Given the description of an element on the screen output the (x, y) to click on. 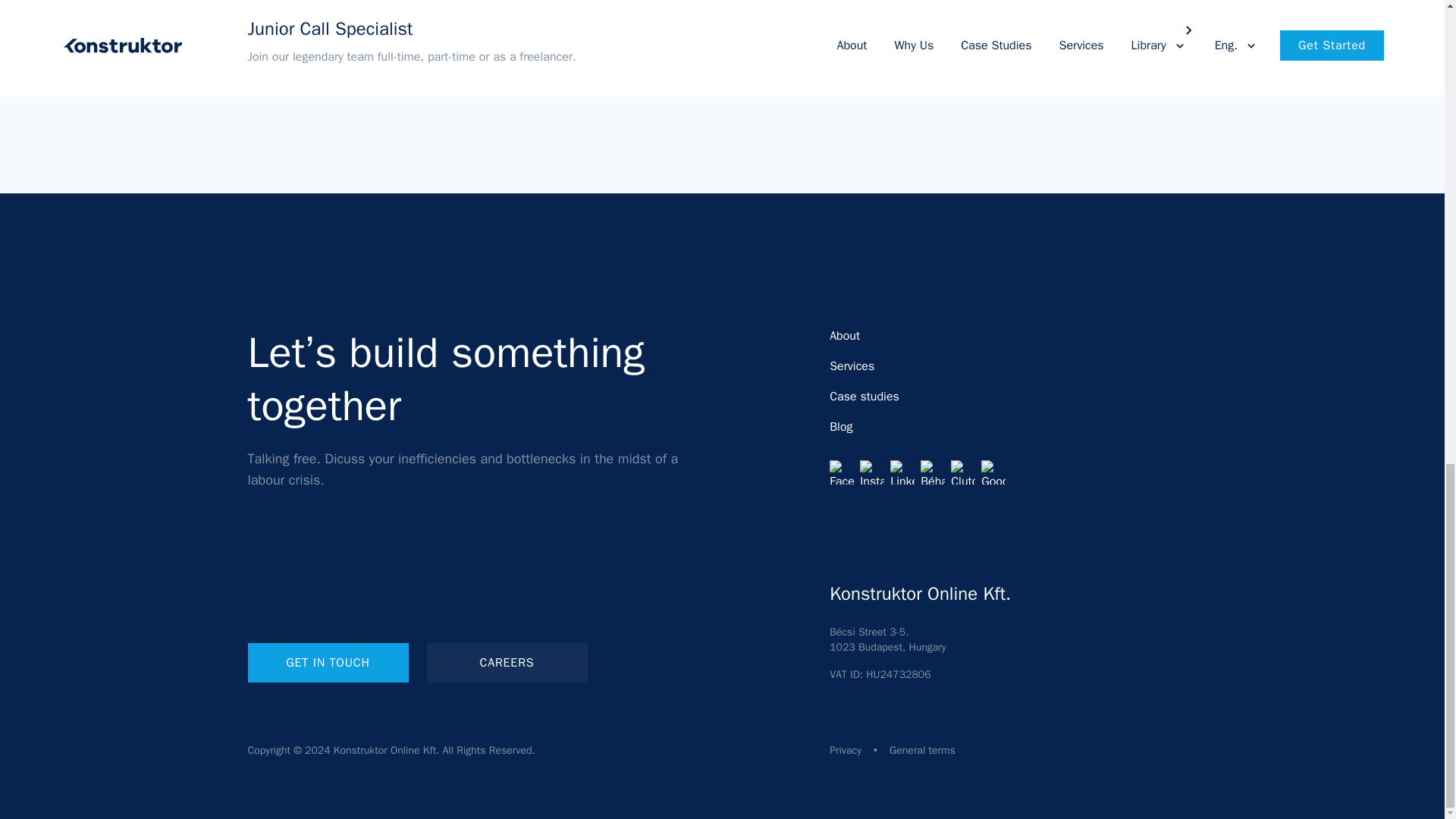
Konstruktor Online on GoodFirms (993, 472)
Case studies (864, 396)
KonstruktorOnline Facebook (841, 472)
Services (852, 365)
Blog (840, 426)
Privacy (845, 749)
General terms (922, 749)
About (844, 335)
Konstruktor Online on Behance (932, 472)
